Given the description of an element on the screen output the (x, y) to click on. 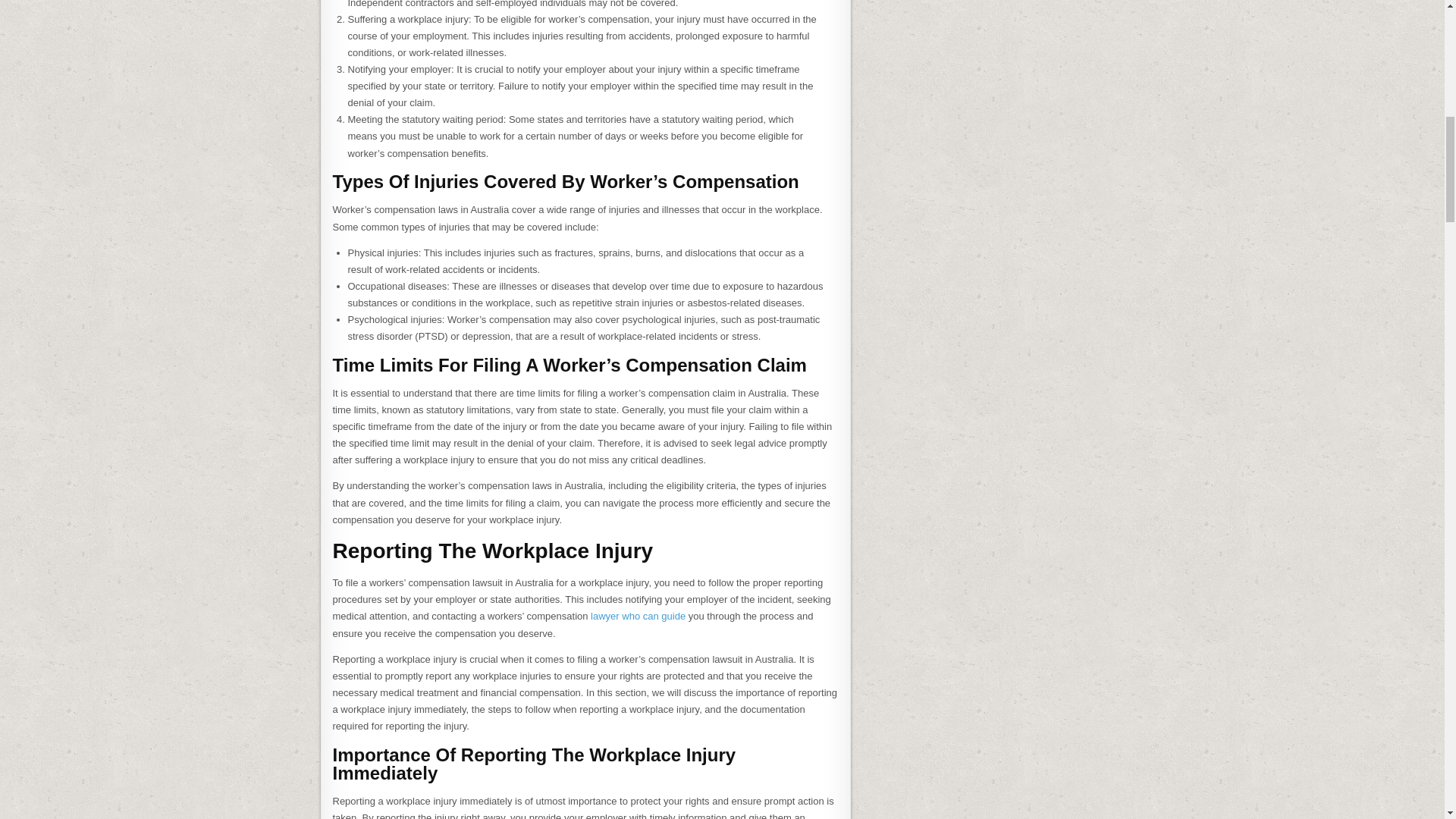
lawyer who can guide (639, 615)
